Given the description of an element on the screen output the (x, y) to click on. 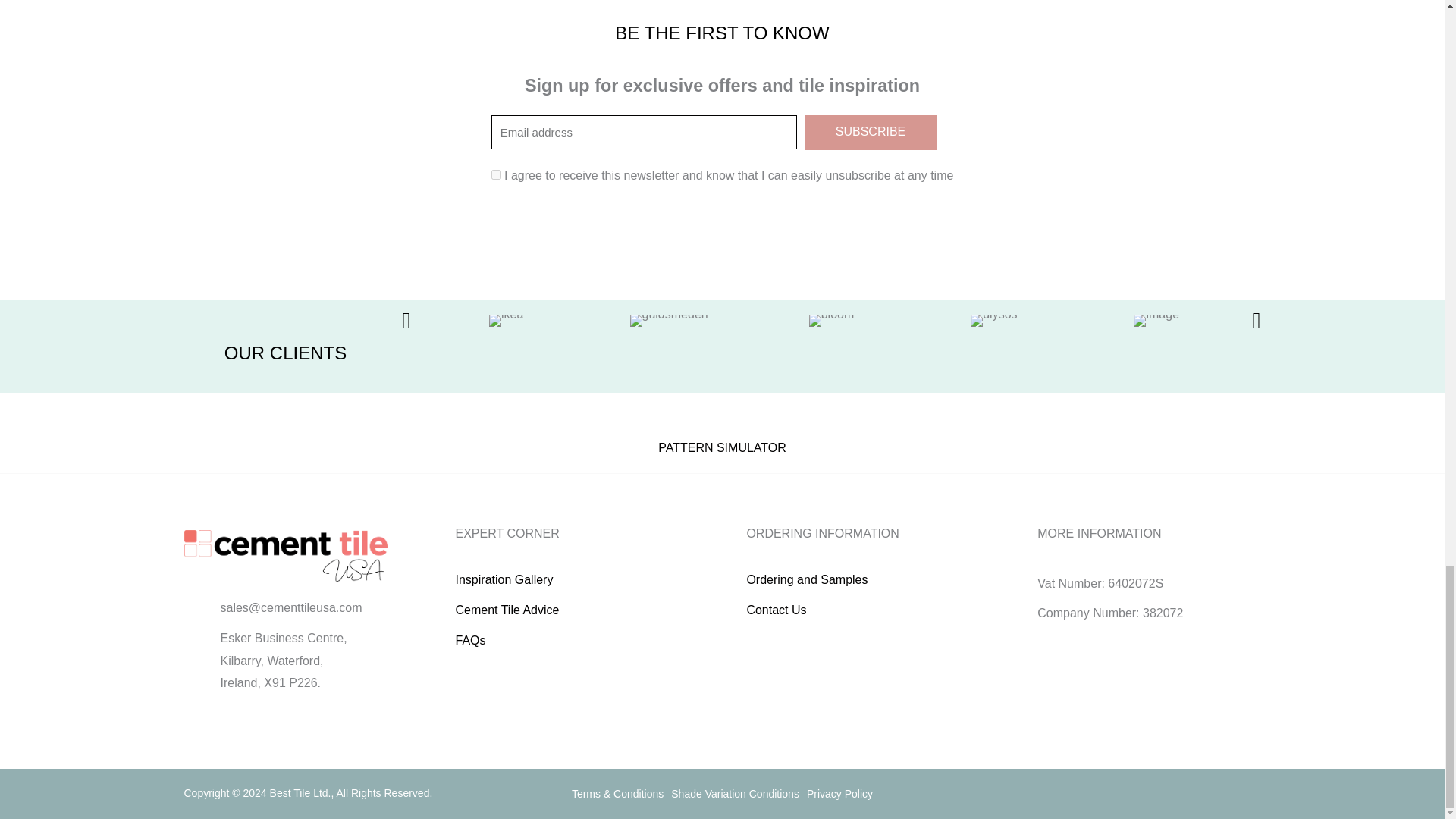
on (496, 174)
